Given the description of an element on the screen output the (x, y) to click on. 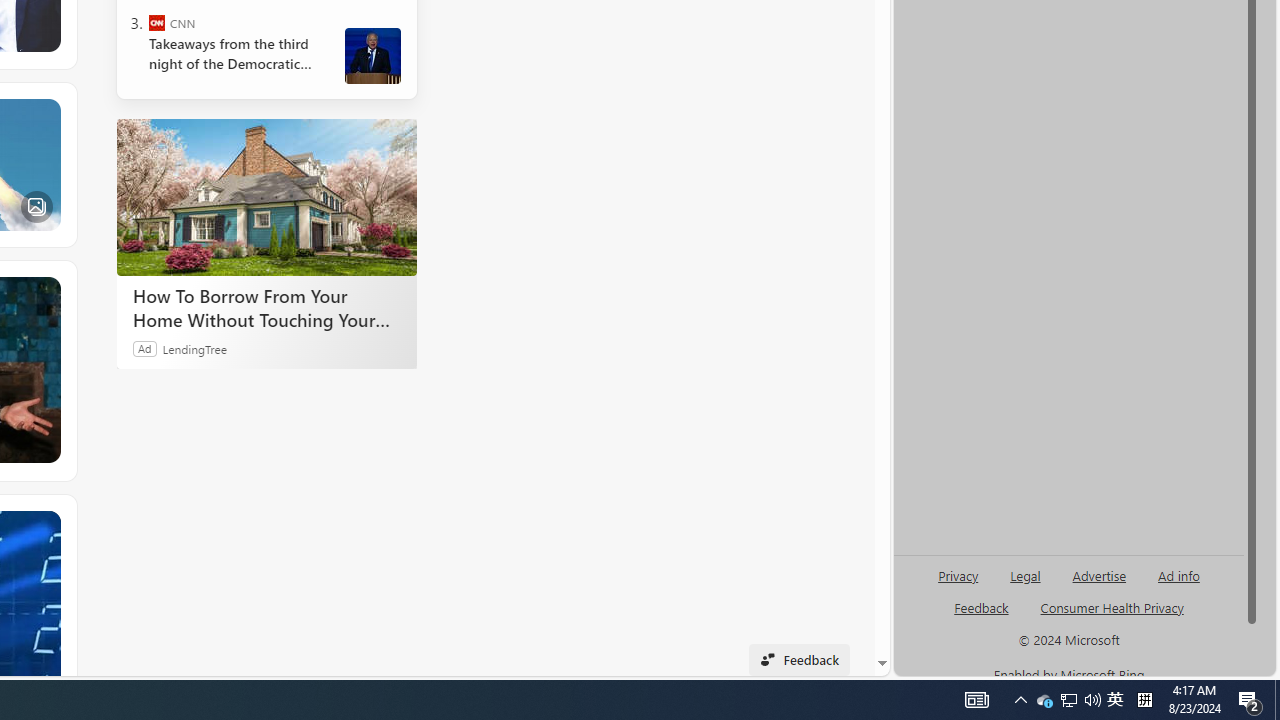
AutomationID: genId96 (981, 615)
How To Borrow From Your Home Without Touching Your Mortgage (266, 307)
How To Borrow From Your Home Without Touching Your Mortgage (266, 196)
CNN (156, 22)
AutomationID: sb_feedback (980, 607)
LendingTree (194, 348)
